Given the description of an element on the screen output the (x, y) to click on. 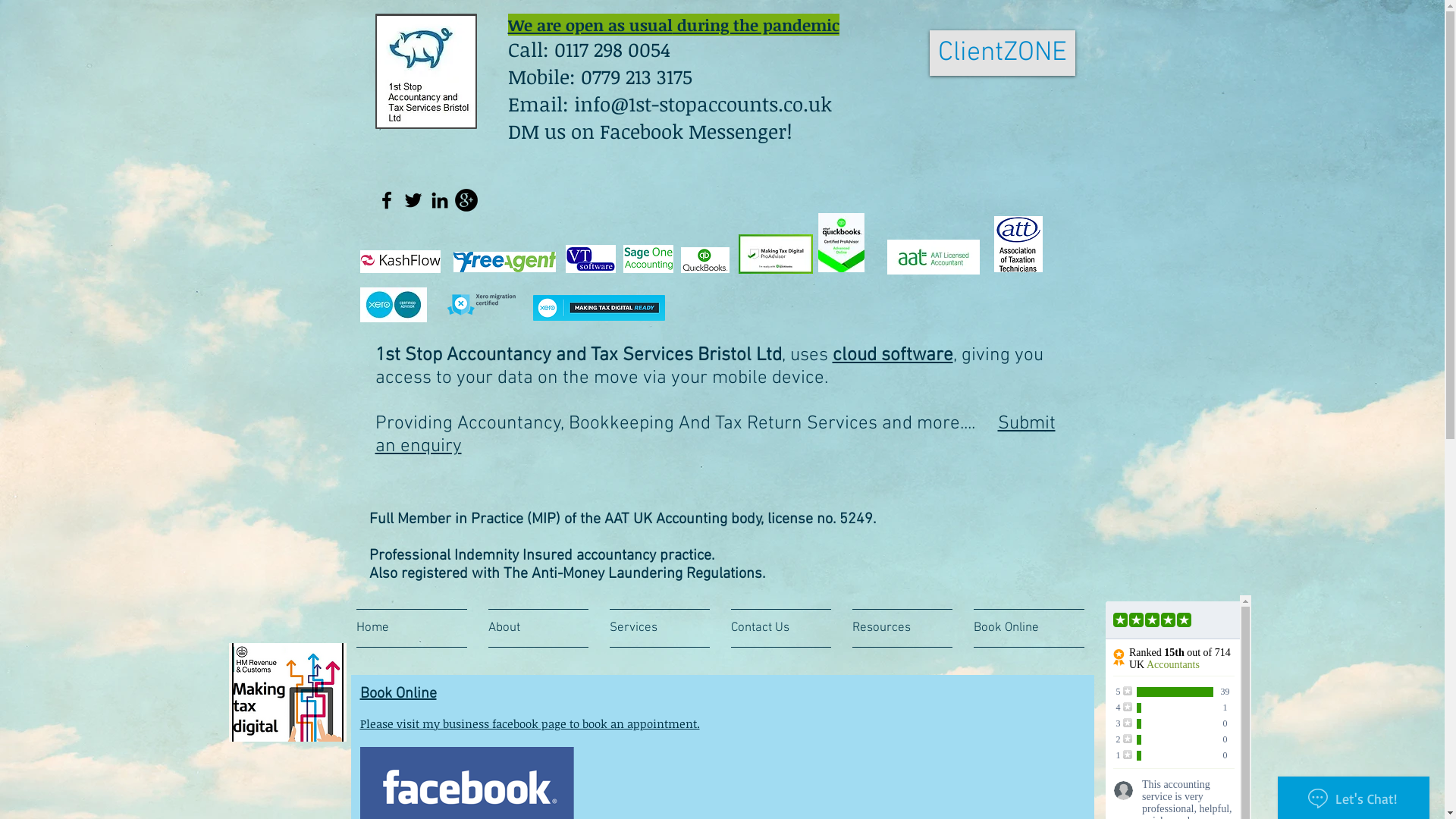
ClientZONE Element type: text (1002, 52)
info@1st-stopaccounts.co.uk Element type: text (702, 103)
Contact Us Element type: text (780, 627)
download.jpg Element type: hover (392, 304)
Book Online Element type: text (1023, 627)
cloud software Element type: text (892, 355)
About Element type: text (538, 627)
Professional Indemnity Insured accountancy practice Element type: text (539, 555)
Book Online Element type: text (397, 693)
Cookie Alert Element type: hover (1019, 462)
Edited Image 2017-02-08 17-22-12 Element type: hover (425, 70)
Home Element type: text (416, 627)
Advanced Certification logo.jpg Element type: hover (840, 242)
Submit an enquiry Element type: text (714, 435)
Site Search Element type: hover (1017, 552)
